Given the description of an element on the screen output the (x, y) to click on. 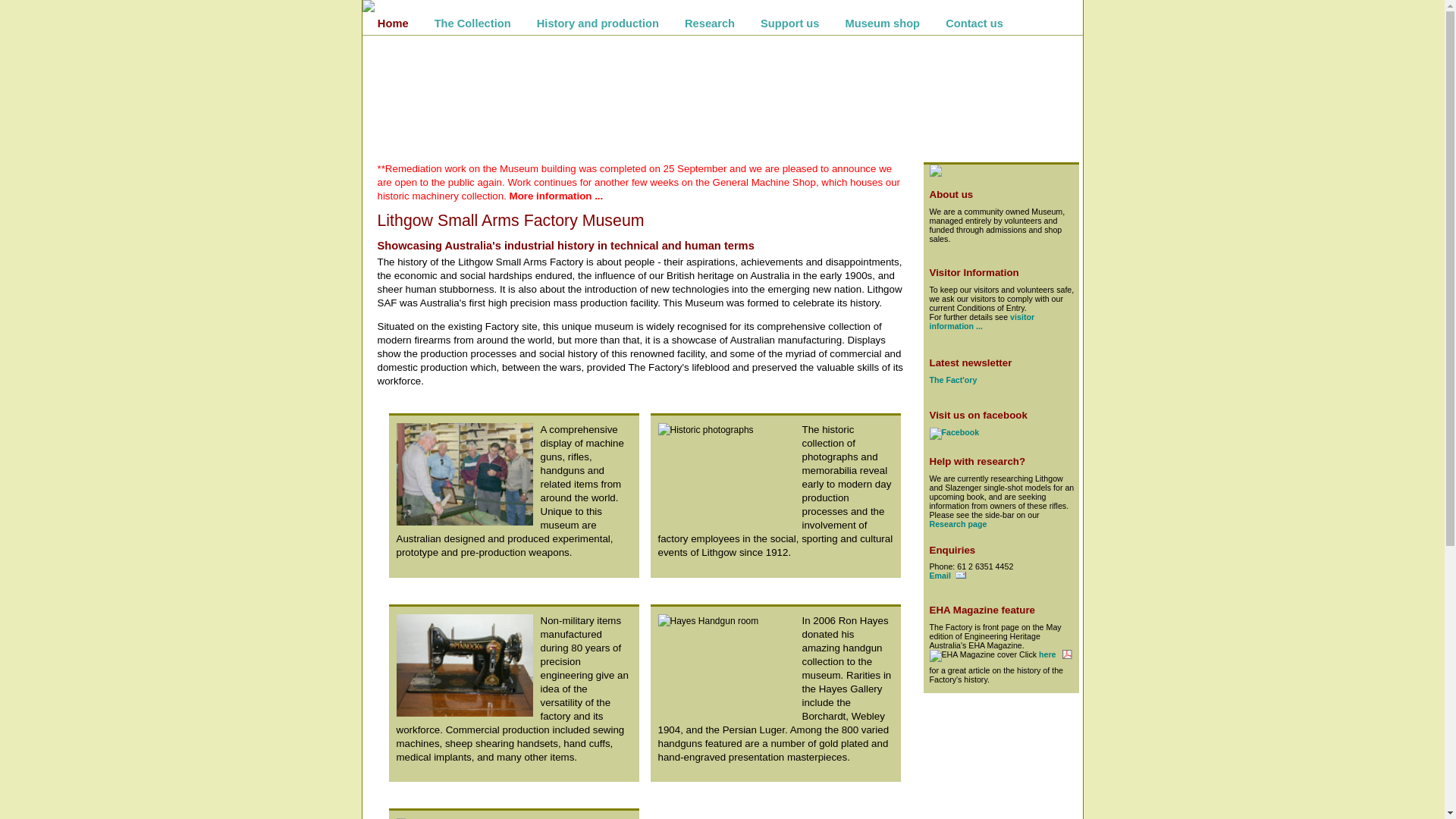
The Fact'ory Element type: text (953, 379)
here Element type: text (1054, 653)
Research Element type: text (709, 23)
History and production Element type: text (597, 23)
Home Element type: text (393, 23)
The Collection Element type: text (472, 23)
Contact us Element type: text (974, 23)
Research page Element type: text (958, 523)
visitor information ... Element type: text (982, 321)
Email Element type: text (947, 575)
Support us Element type: text (789, 23)
Museum shop Element type: text (882, 23)
More information ... Element type: text (556, 195)
